Given the description of an element on the screen output the (x, y) to click on. 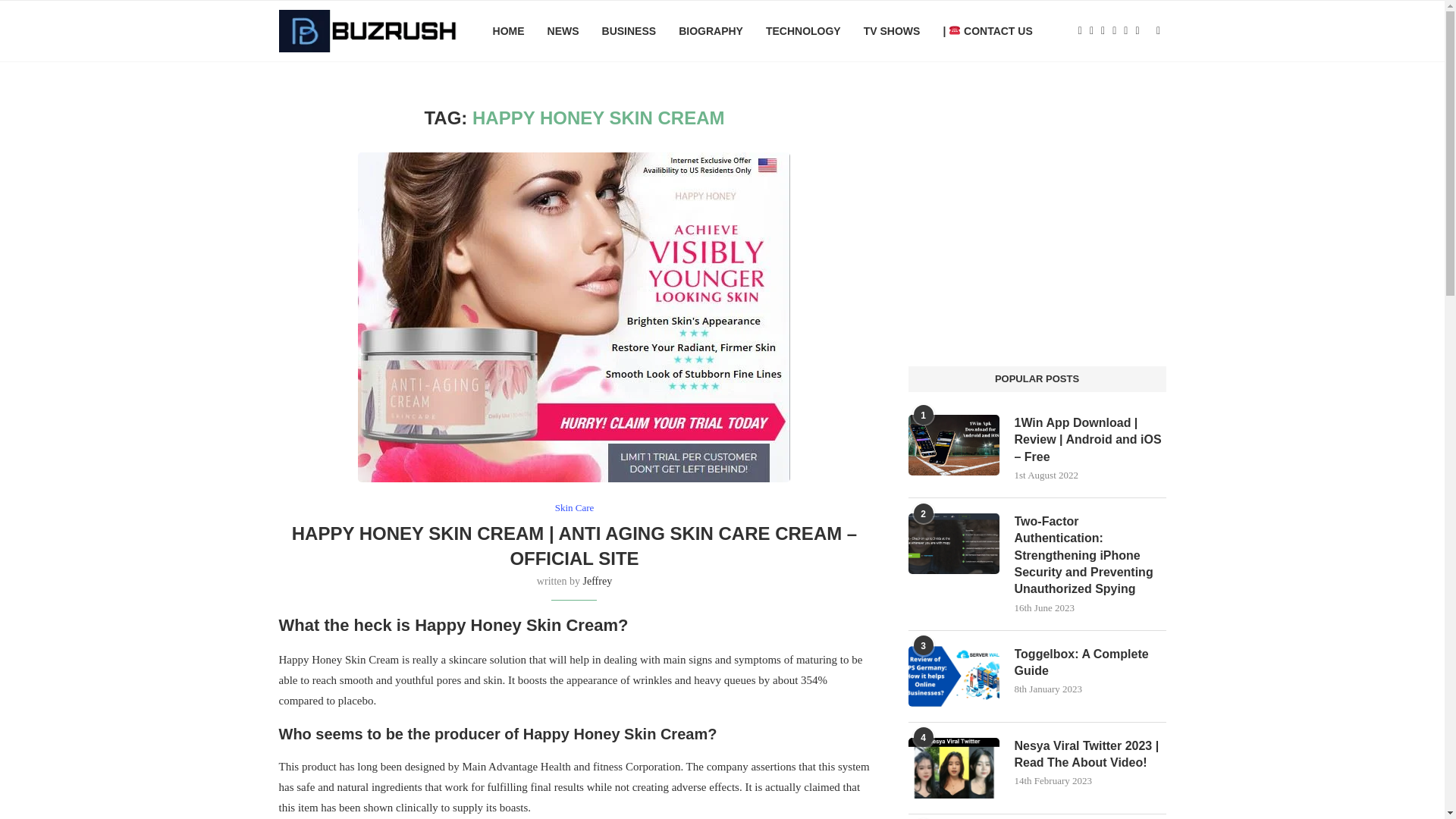
Advertisement (1037, 214)
Toggelbox: A Complete Guide (953, 676)
Skin Care (574, 508)
BUSINESS (629, 30)
Jeffrey (597, 581)
TV SHOWS (891, 30)
BIOGRAPHY (710, 30)
